Given the description of an element on the screen output the (x, y) to click on. 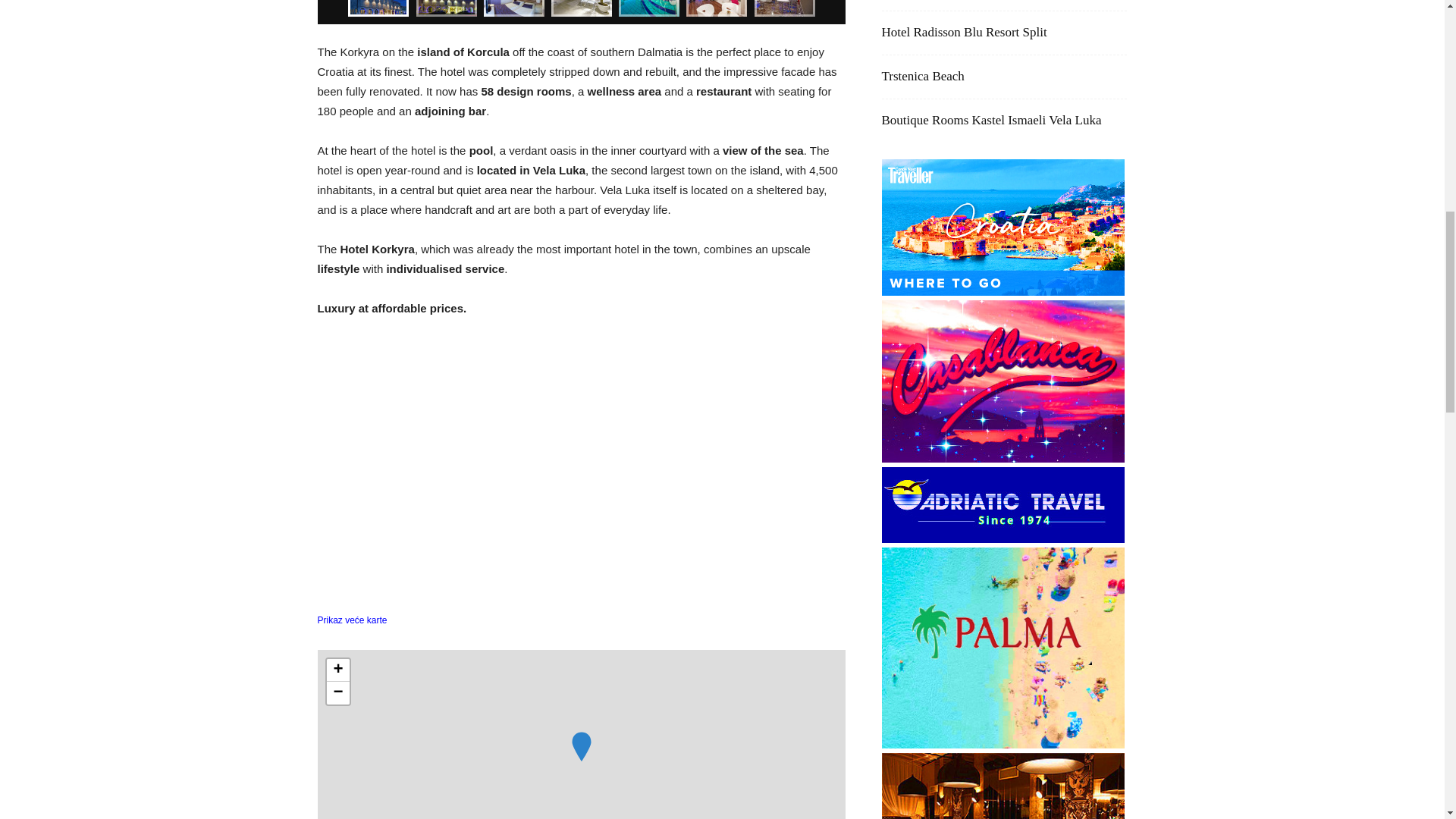
Zoom in (337, 670)
